Given the description of an element on the screen output the (x, y) to click on. 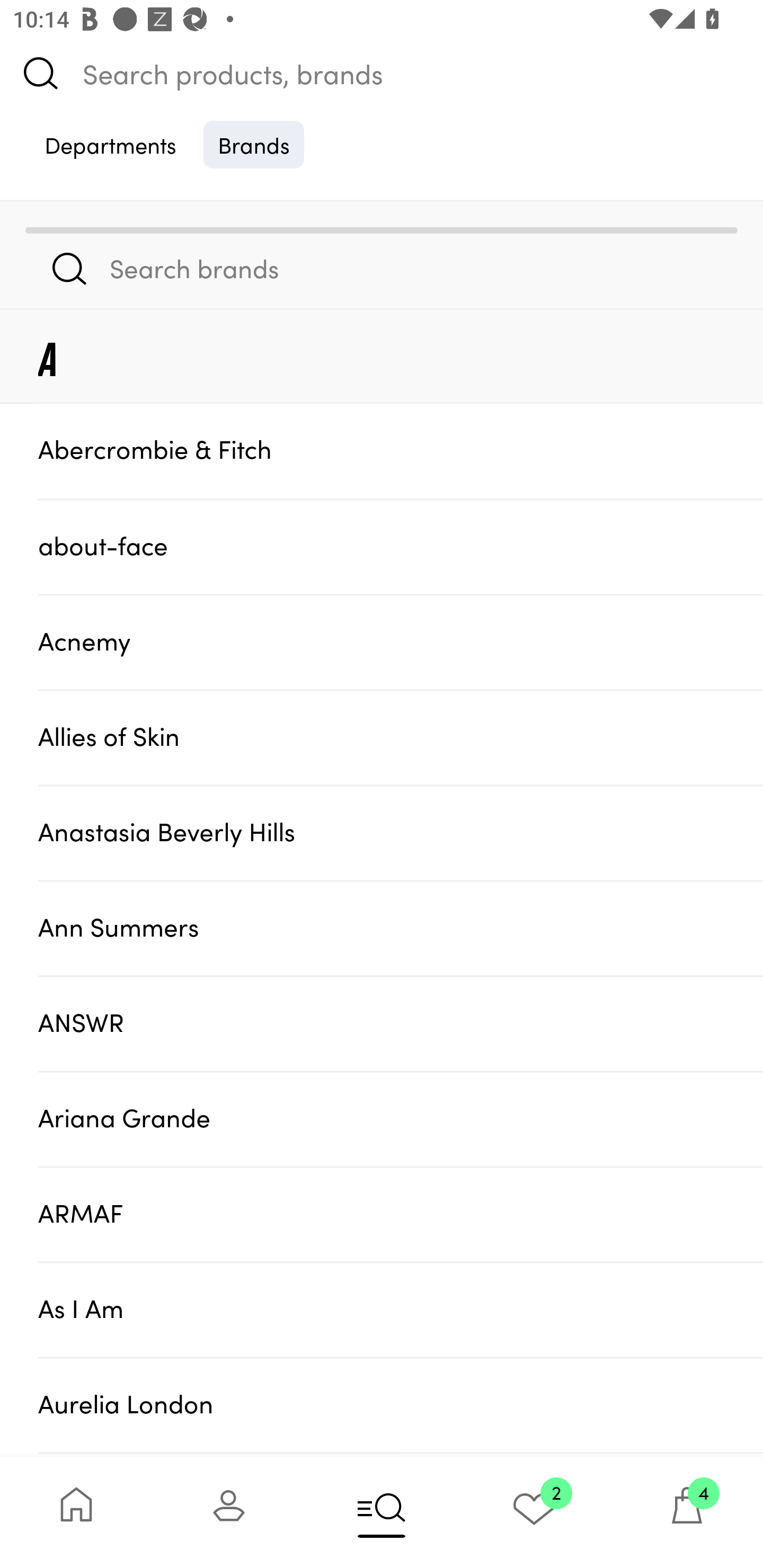
Search products, brands (381, 72)
Departments (110, 143)
Brands (253, 143)
Abercrombie & Fitch (400, 450)
about-face (400, 546)
Acnemy (400, 641)
Allies of Skin (400, 737)
Anastasia Beverly Hills (400, 832)
Ann Summers (400, 927)
ANSWR (400, 1022)
Ariana Grande (400, 1118)
ARMAF (400, 1214)
As I Am (400, 1309)
Aurelia London (400, 1404)
2 (533, 1512)
4 (686, 1512)
